Given the description of an element on the screen output the (x, y) to click on. 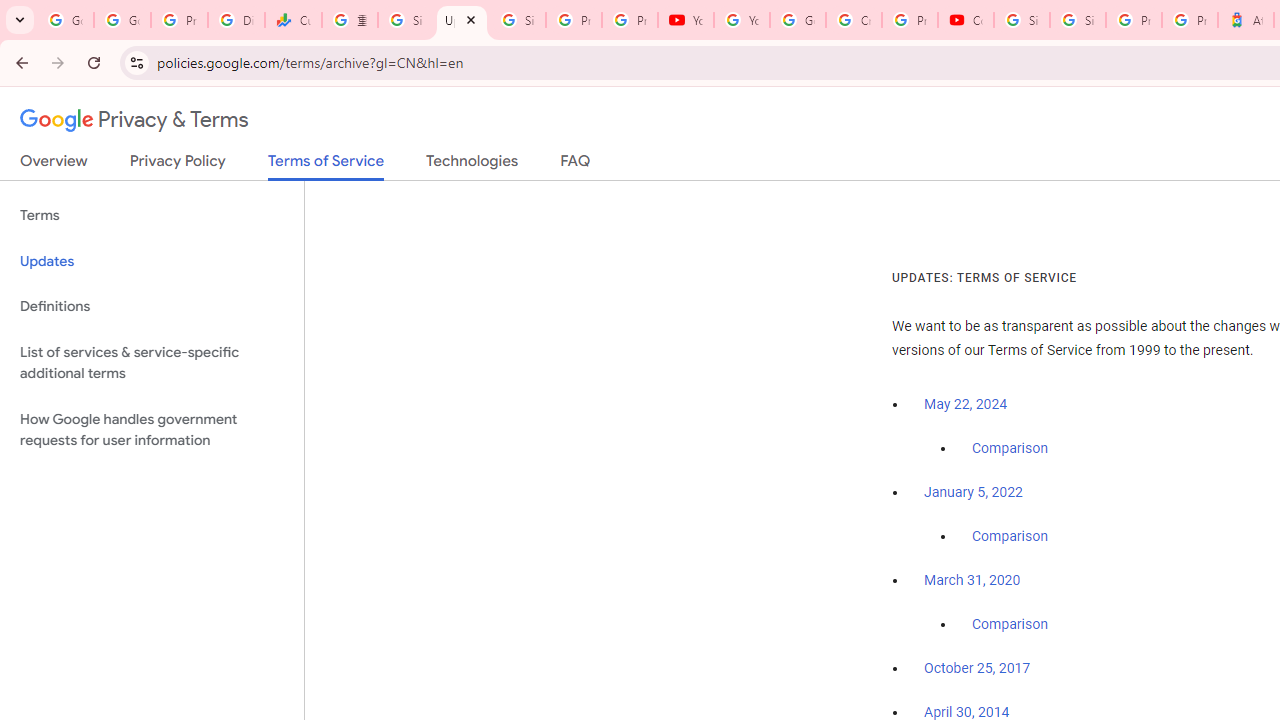
How Google handles government requests for user information (152, 429)
Sign in - Google Accounts (1021, 20)
Currencies - Google Finance (293, 20)
YouTube (742, 20)
Create your Google Account (853, 20)
Terms (152, 215)
Definitions (152, 306)
